Given the description of an element on the screen output the (x, y) to click on. 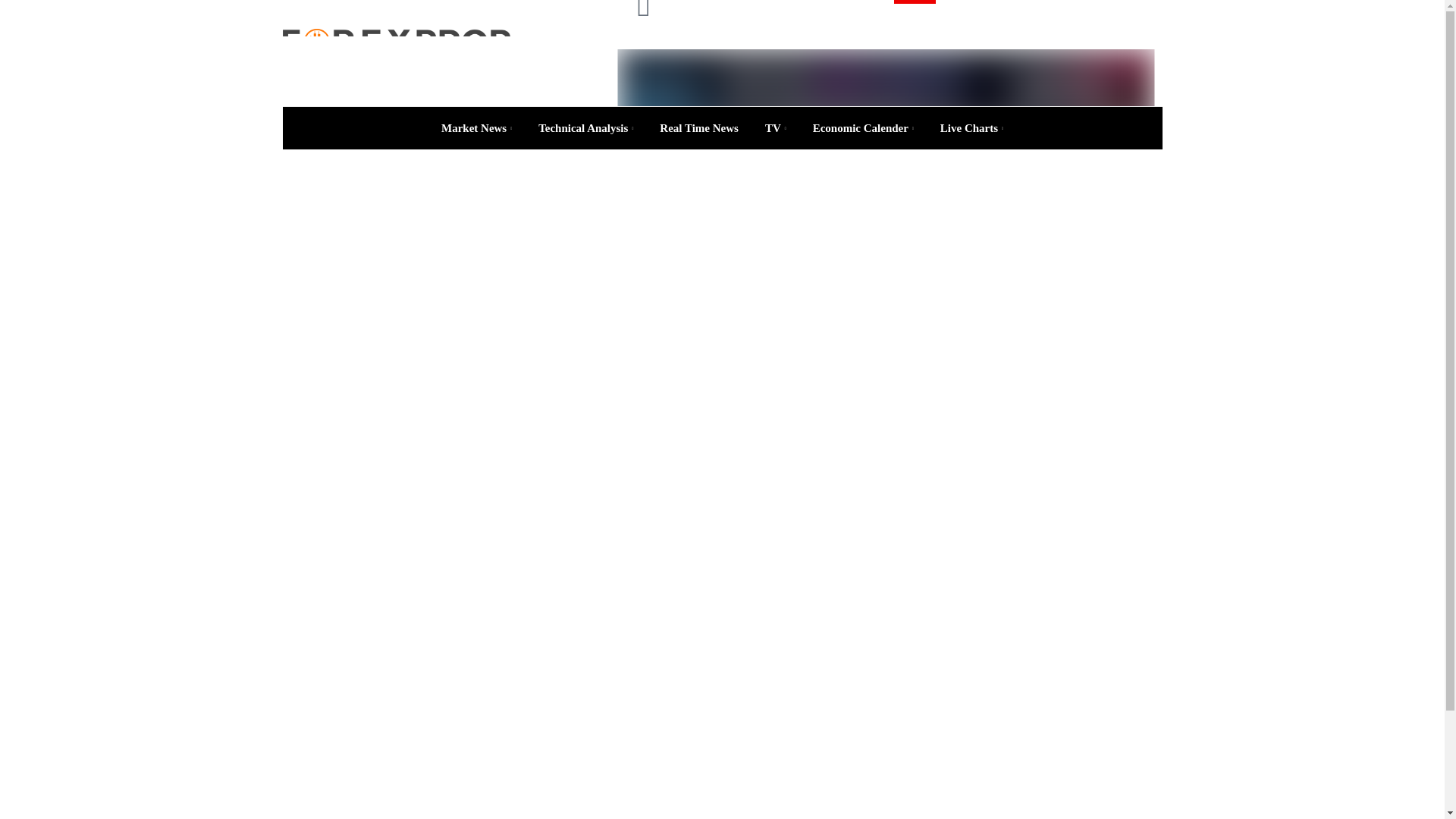
Market News (476, 128)
Technical Analysis (585, 128)
